Given the description of an element on the screen output the (x, y) to click on. 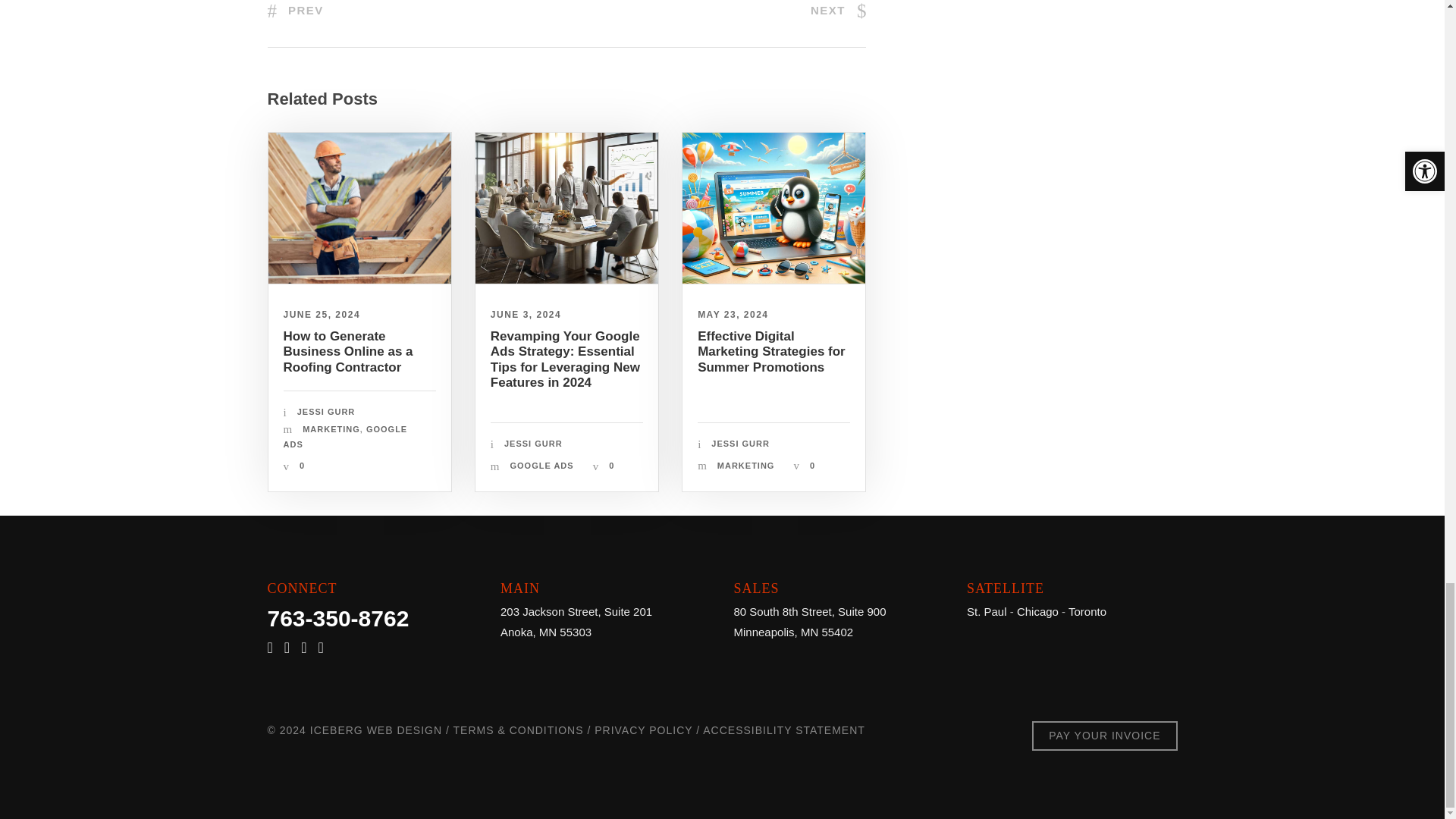
Happy Roofing Contractor (359, 208)
Posts by Jessi Gurr (740, 442)
Google Ads (567, 208)
Summer Elements (773, 208)
Posts by Jessi Gurr (532, 442)
Posts by Jessi Gurr (326, 411)
